Given the description of an element on the screen output the (x, y) to click on. 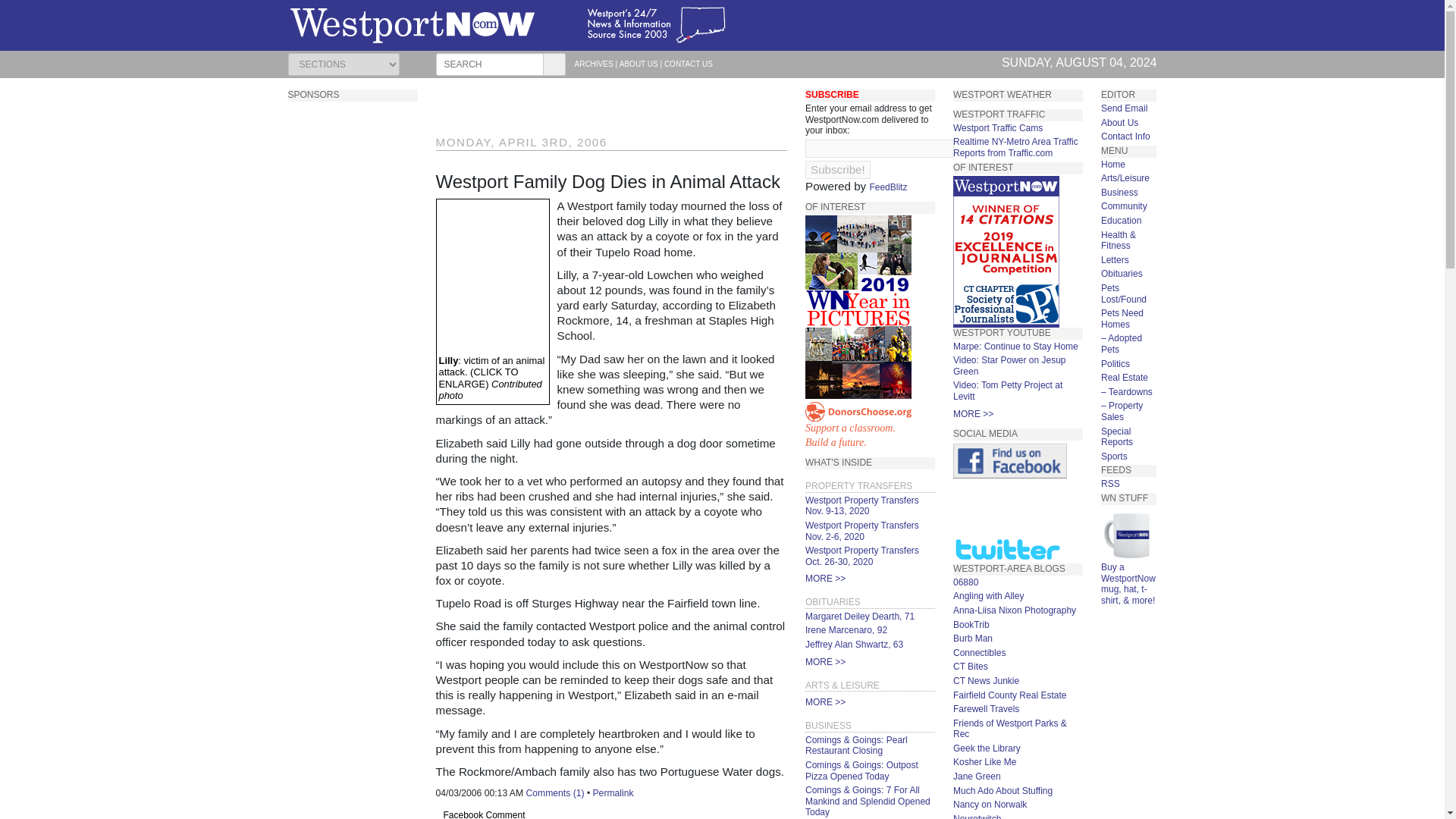
CONTACT US (688, 63)
Jeffrey Alan Shwartz, 63 (853, 644)
Westport Property Transfers Nov. 2-6, 2020 (869, 425)
ABOUT US (861, 531)
Irene Marcenaro, 92 (639, 63)
Westport Property Transfers Oct. 26-30, 2020 (845, 629)
Margaret Deiley Dearth, 71 (861, 556)
Westport Property Transfers Nov. 9-13, 2020 (859, 615)
Permalink (861, 505)
Subscribe! (612, 792)
ARCHIVES (837, 169)
Search for: (593, 63)
FeedBlitz (489, 64)
